Given the description of an element on the screen output the (x, y) to click on. 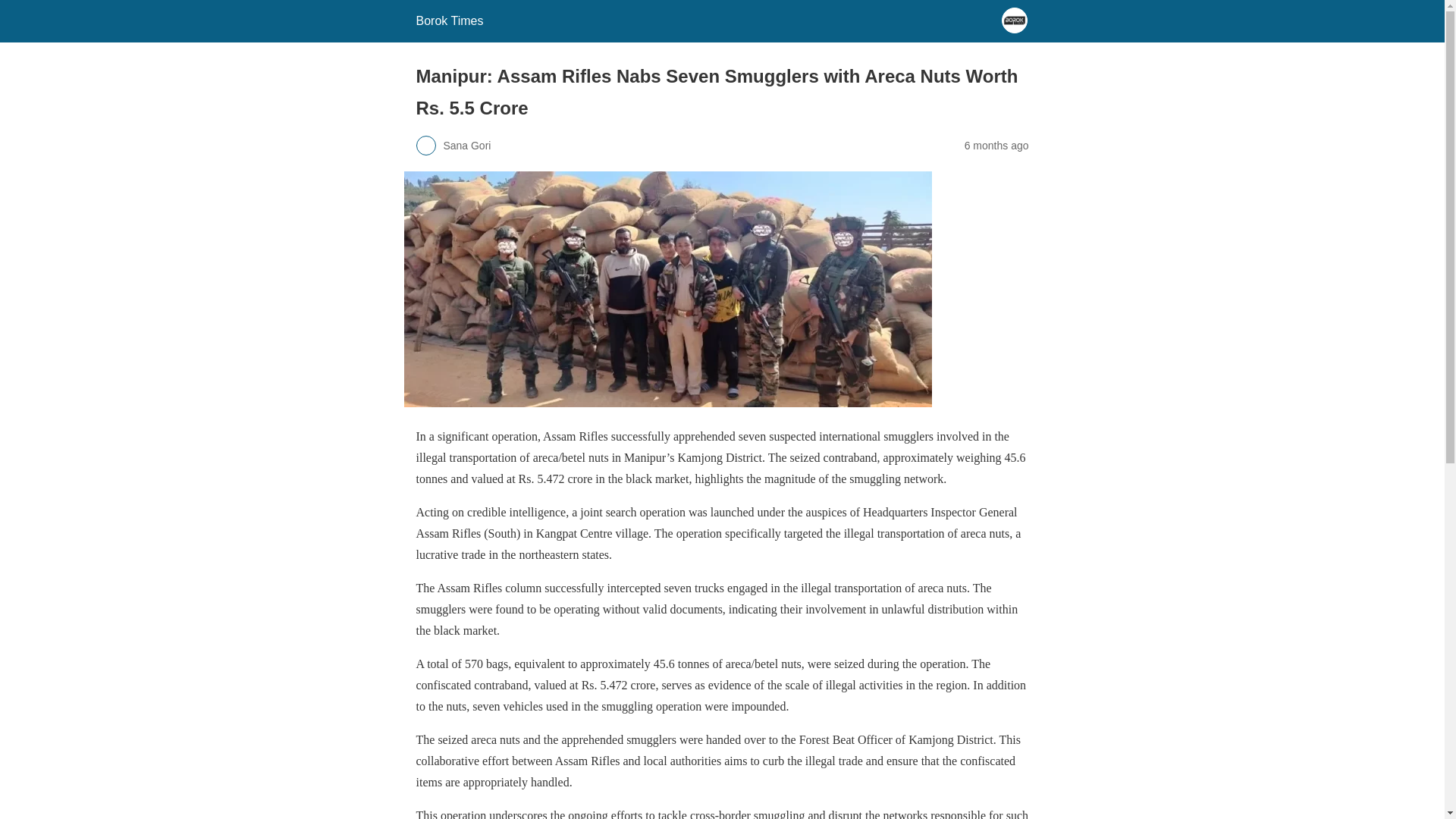
Borok Times (448, 20)
